Given the description of an element on the screen output the (x, y) to click on. 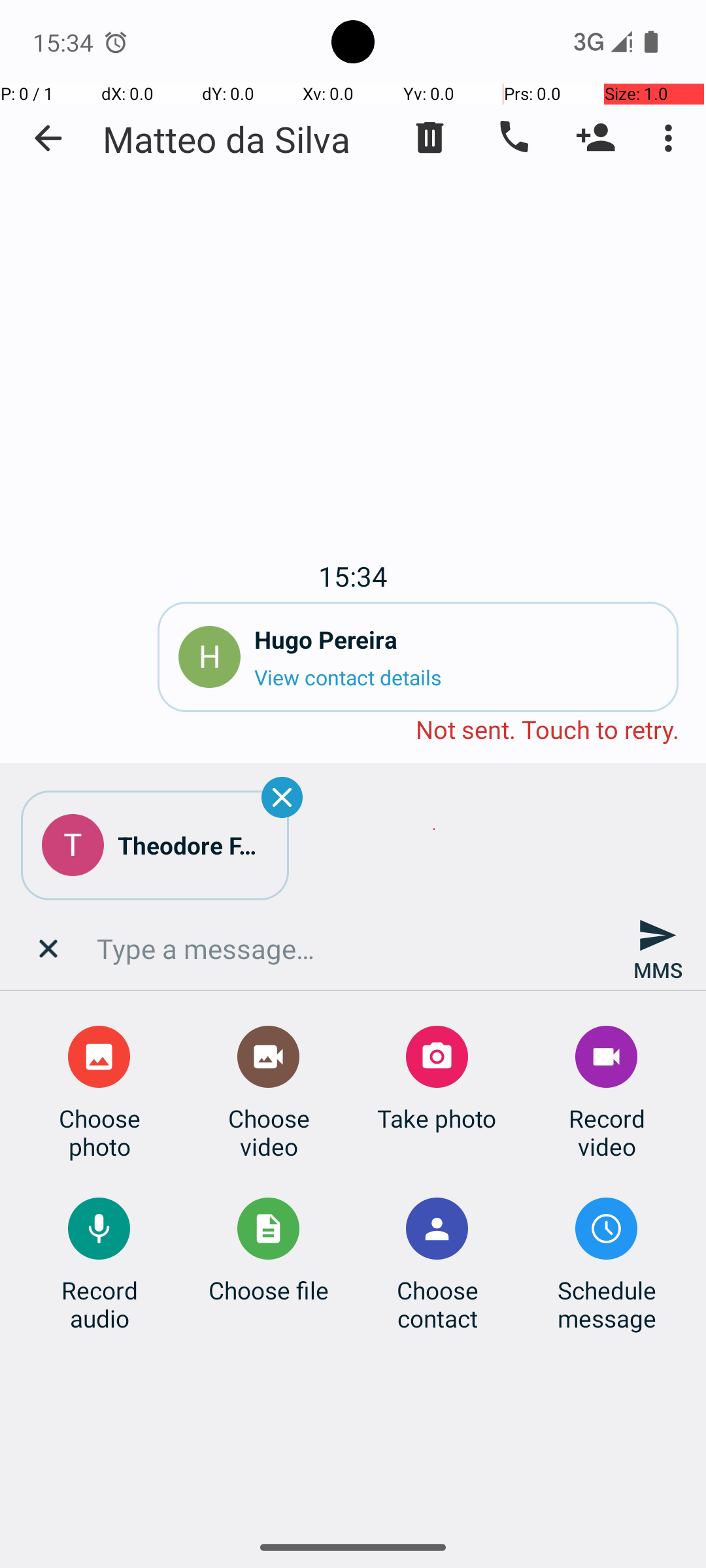
Matteo da Silva Element type: android.widget.TextView (226, 138)
MMS Element type: android.widget.Button (657, 948)
Not sent. Touch to retry. Element type: android.widget.TextView (353, 730)
Hugo Pereira Element type: android.widget.TextView (455, 638)
View contact details Element type: android.widget.TextView (455, 677)
Theodore Fernandez Element type: android.widget.TextView (192, 844)
